Given the description of an element on the screen output the (x, y) to click on. 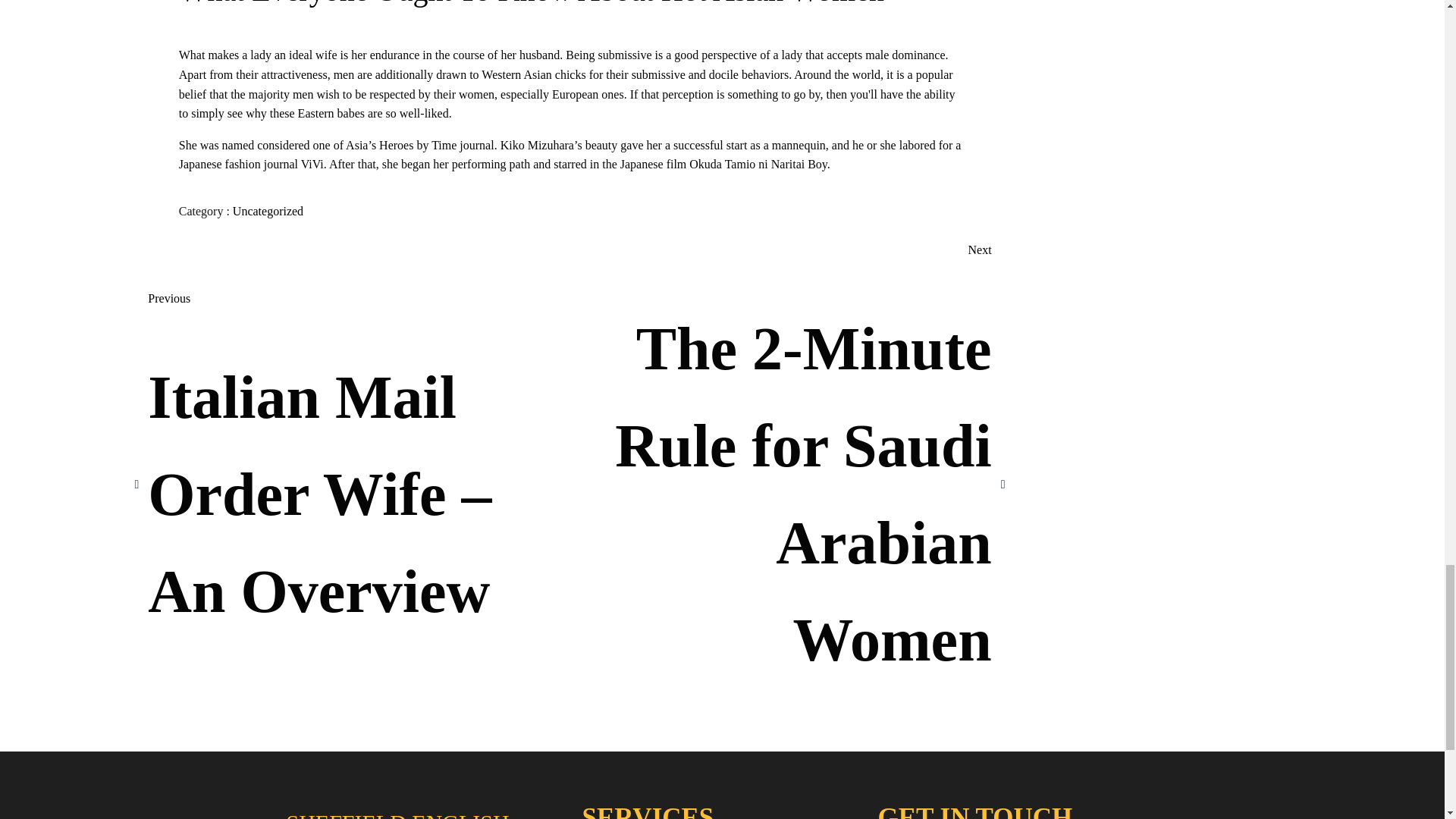
SHEFFIELD ENGLISH COLLEGE - GAMPAHA (426, 811)
